Given the description of an element on the screen output the (x, y) to click on. 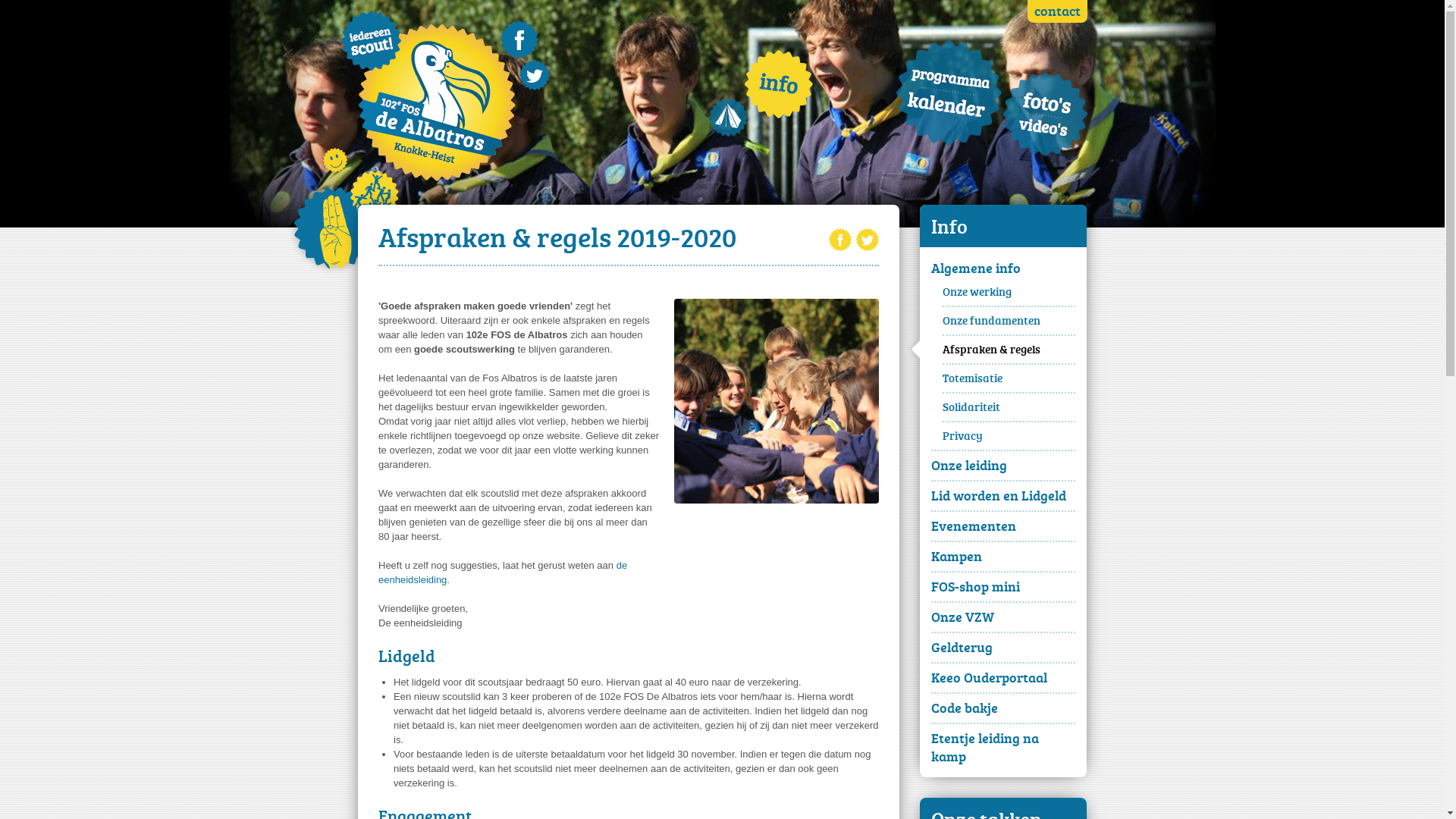
home Element type: hover (727, 117)
foto en video Element type: hover (1044, 114)
Onze leiding Element type: text (1003, 464)
  Element type: text (727, 117)
  Element type: text (533, 74)
Evenementen Element type: text (1003, 525)
Etentje leiding na kamp Element type: text (1003, 746)
Onze VZW Element type: text (1003, 616)
  Element type: text (1044, 114)
Onze fundamenten Element type: text (1008, 319)
Code bakje Element type: text (1003, 707)
Kampen Element type: text (1003, 555)
info Element type: hover (778, 84)
  Element type: text (778, 84)
contact Element type: text (1056, 11)
Keeo Ouderportaal Element type: text (1003, 677)
Afspraken & regels
  Element type: text (1008, 348)
programma en kalender Element type: hover (948, 92)
  Element type: text (519, 38)
Privacy Element type: text (1008, 434)
Totemisatie Element type: text (1008, 377)
Geldterug Element type: text (1003, 646)
  Element type: text (948, 92)
Lid worden en Lidgeld Element type: text (1003, 495)
FOS-shop mini Element type: text (1003, 586)
  Element type: text (867, 239)
Solidariteit Element type: text (1008, 406)
Onze werking Element type: text (1008, 293)
Algemene info Element type: text (1003, 270)
  Element type: text (435, 102)
  Element type: text (371, 40)
de eenheidsleiding Element type: text (502, 572)
  Element type: text (839, 239)
